Given the description of an element on the screen output the (x, y) to click on. 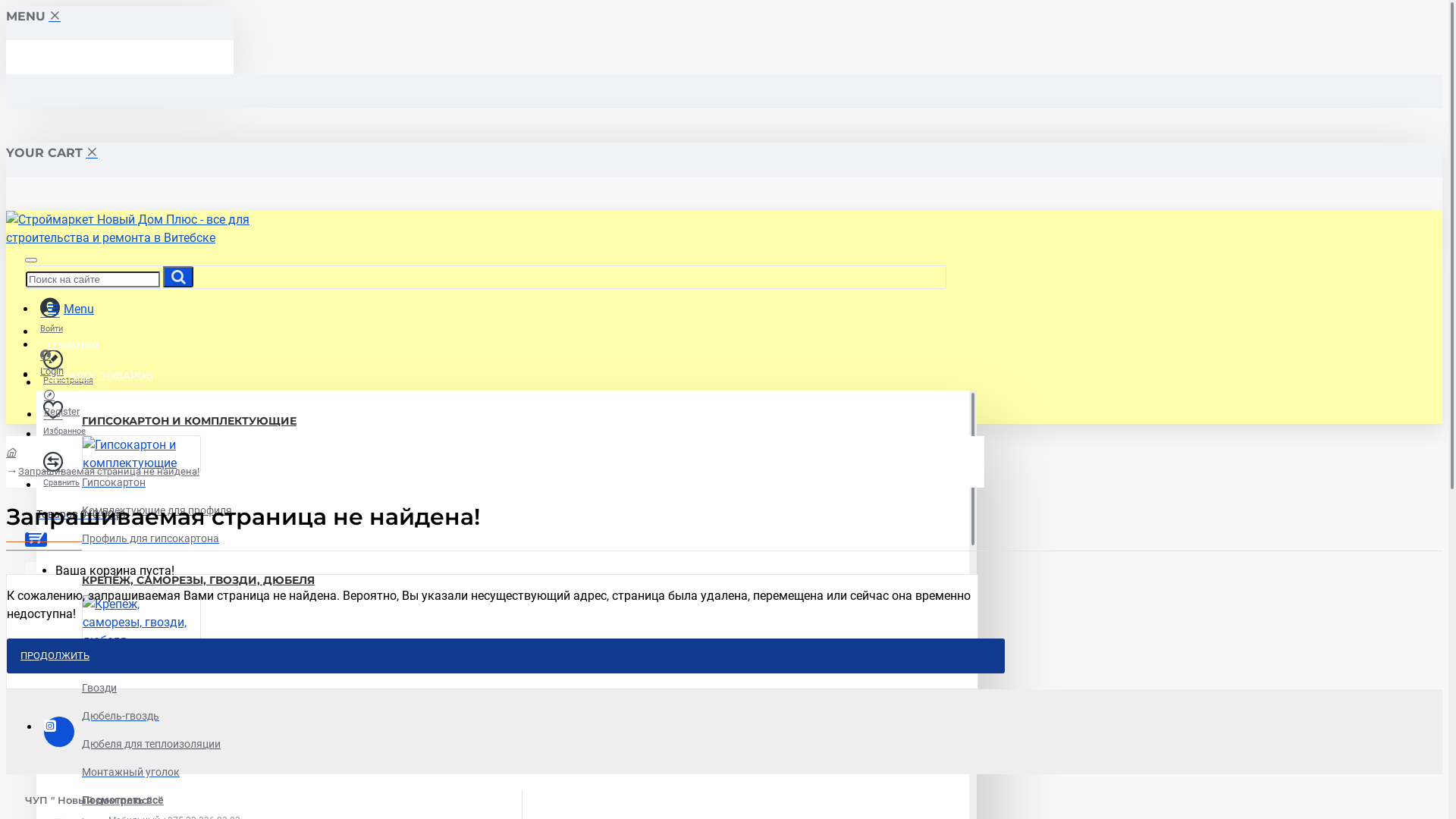
Register Element type: text (61, 402)
Instagram Element type: hover (58, 730)
Login Element type: text (51, 362)
Menu Element type: text (70, 308)
